Given the description of an element on the screen output the (x, y) to click on. 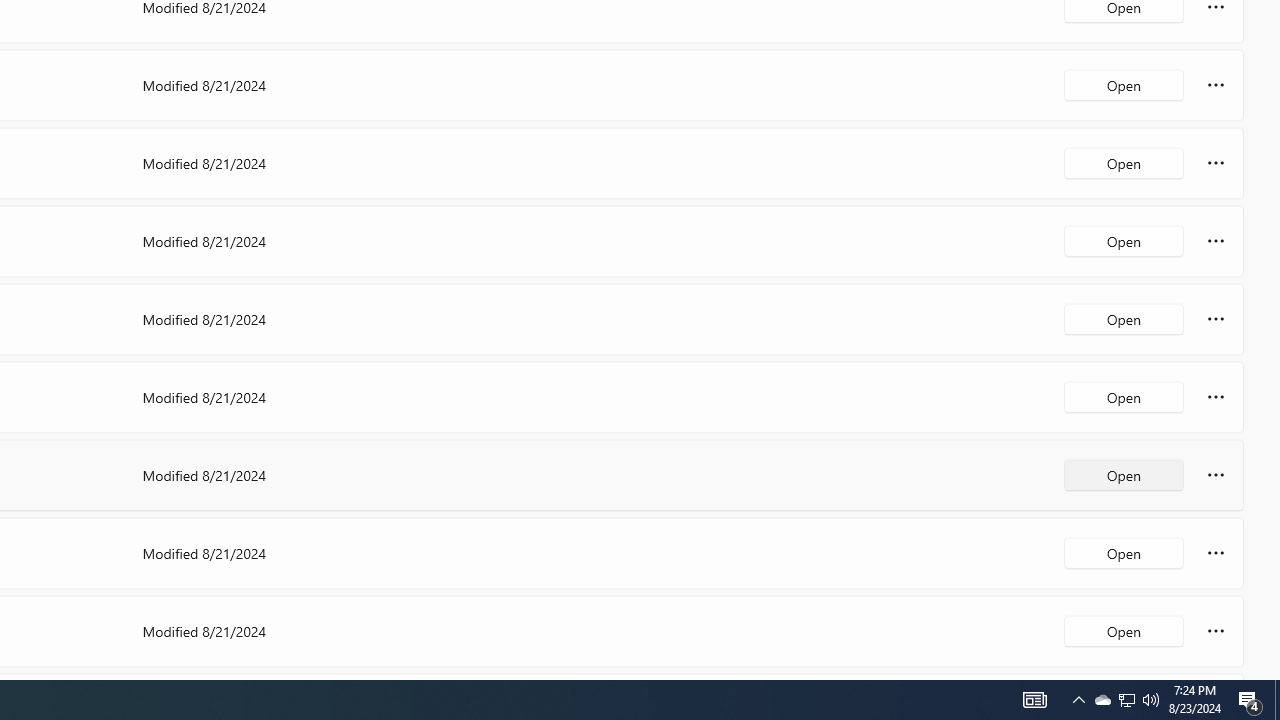
Vertical Small Increase (1272, 672)
More options (1215, 630)
Open (1123, 630)
